Given the description of an element on the screen output the (x, y) to click on. 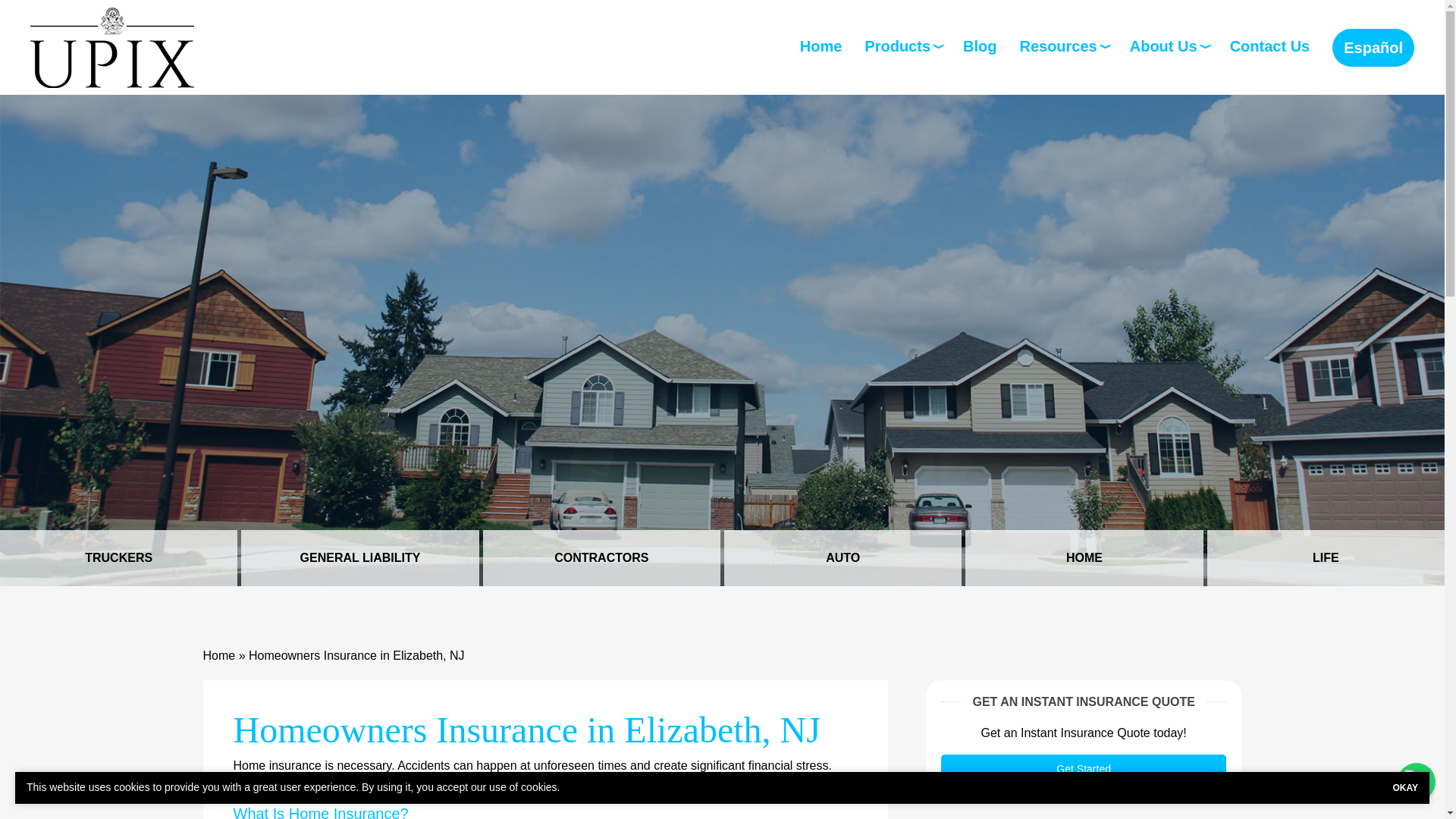
Home (821, 46)
GENERAL LIABILITY (360, 557)
HOME (1083, 557)
CONTRACTORS (601, 557)
Blog (978, 46)
About Us (1168, 46)
Products (902, 46)
Resources (1062, 46)
Contact Us (1270, 46)
TRUCKERS (118, 557)
